Given the description of an element on the screen output the (x, y) to click on. 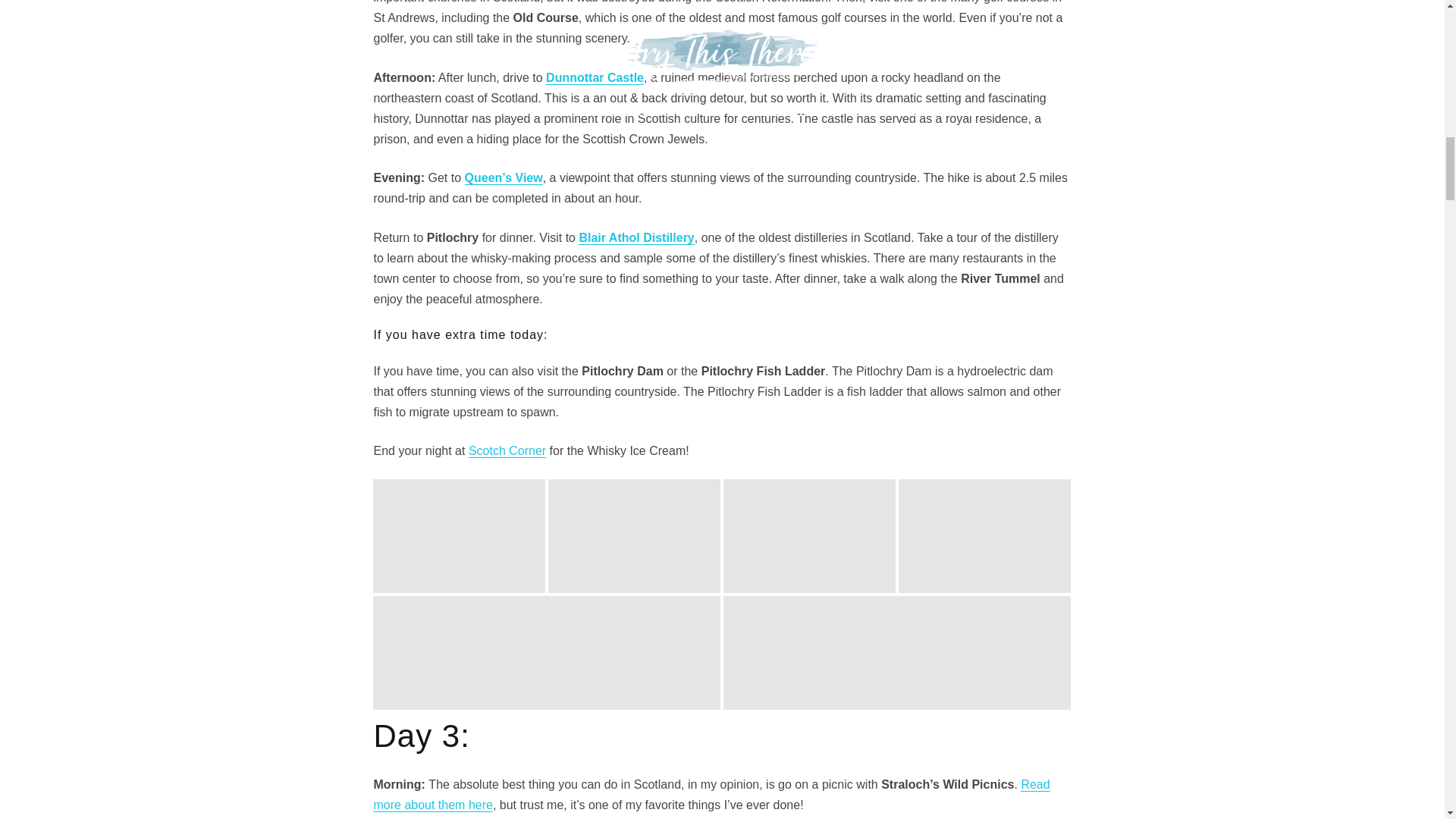
Read more about them here (710, 795)
Blair Athol Distillery (636, 237)
Scotch Corner (507, 450)
Dunnottar Castle (594, 78)
